Given the description of an element on the screen output the (x, y) to click on. 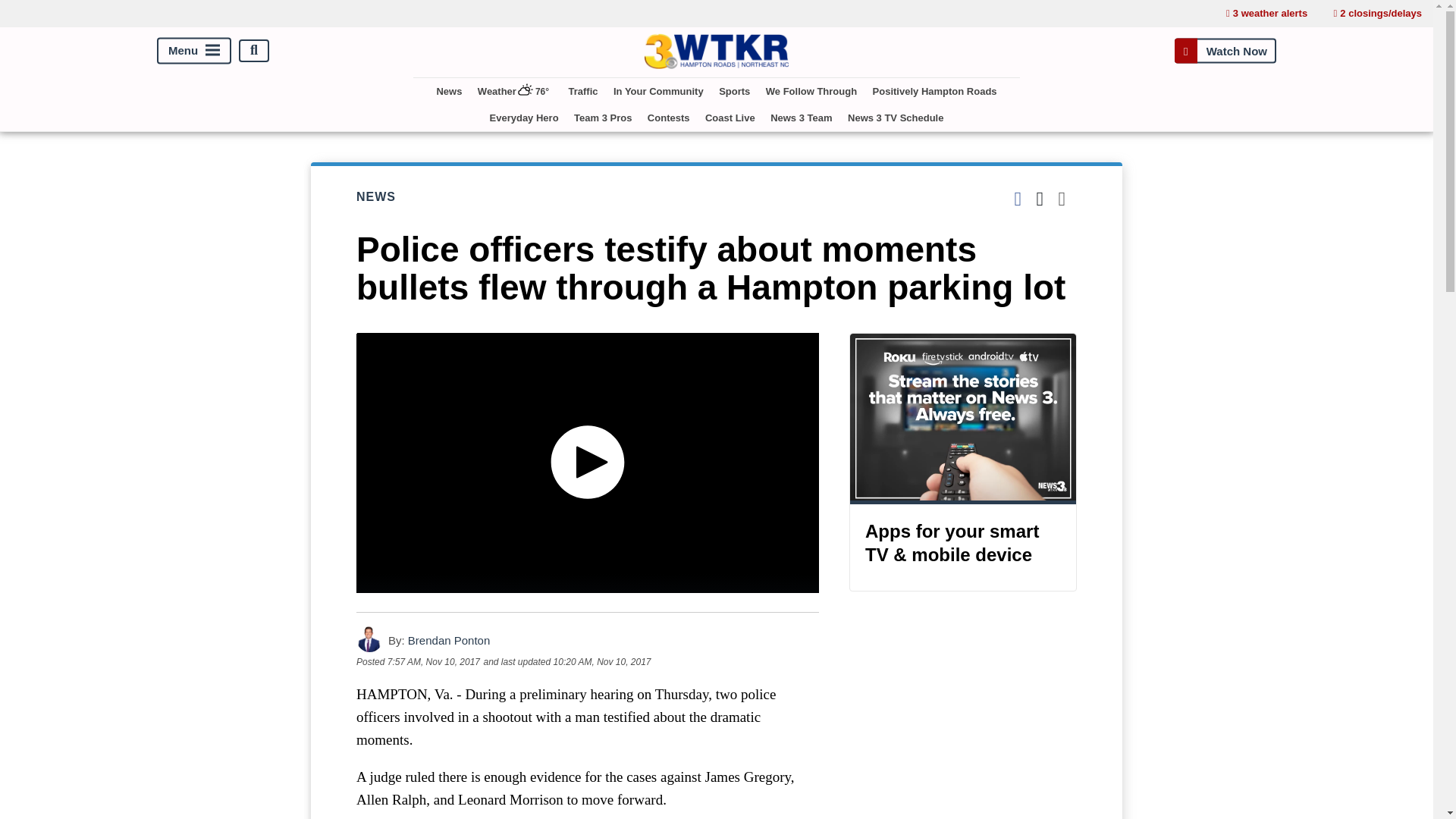
Watch Now (1224, 50)
3 weather alerts (1266, 13)
Menu (194, 49)
